Given the description of an element on the screen output the (x, y) to click on. 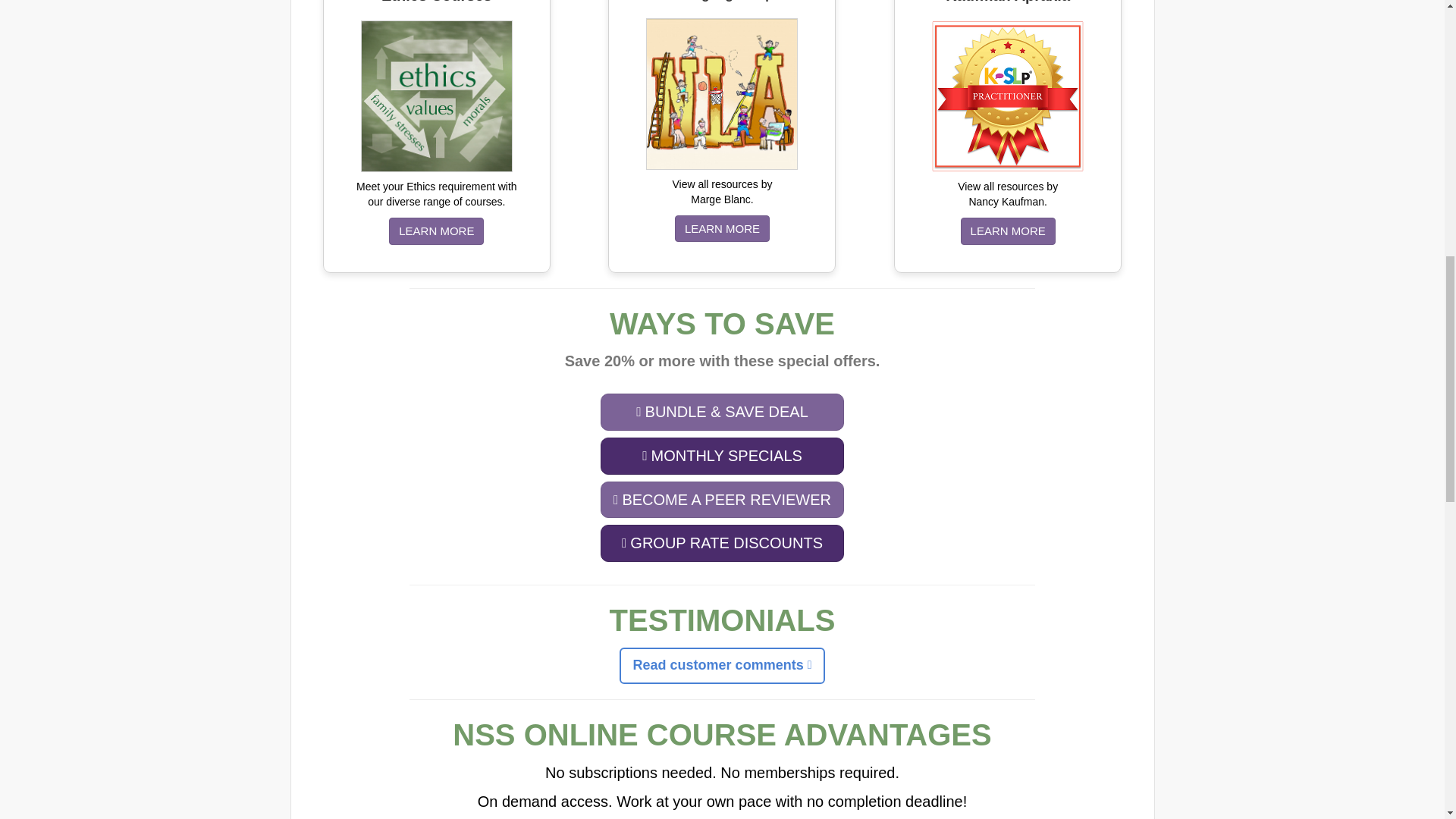
NLA Training (721, 93)
Kaufman Apraxia Training (1007, 96)
Ethics Courses (436, 96)
